Given the description of an element on the screen output the (x, y) to click on. 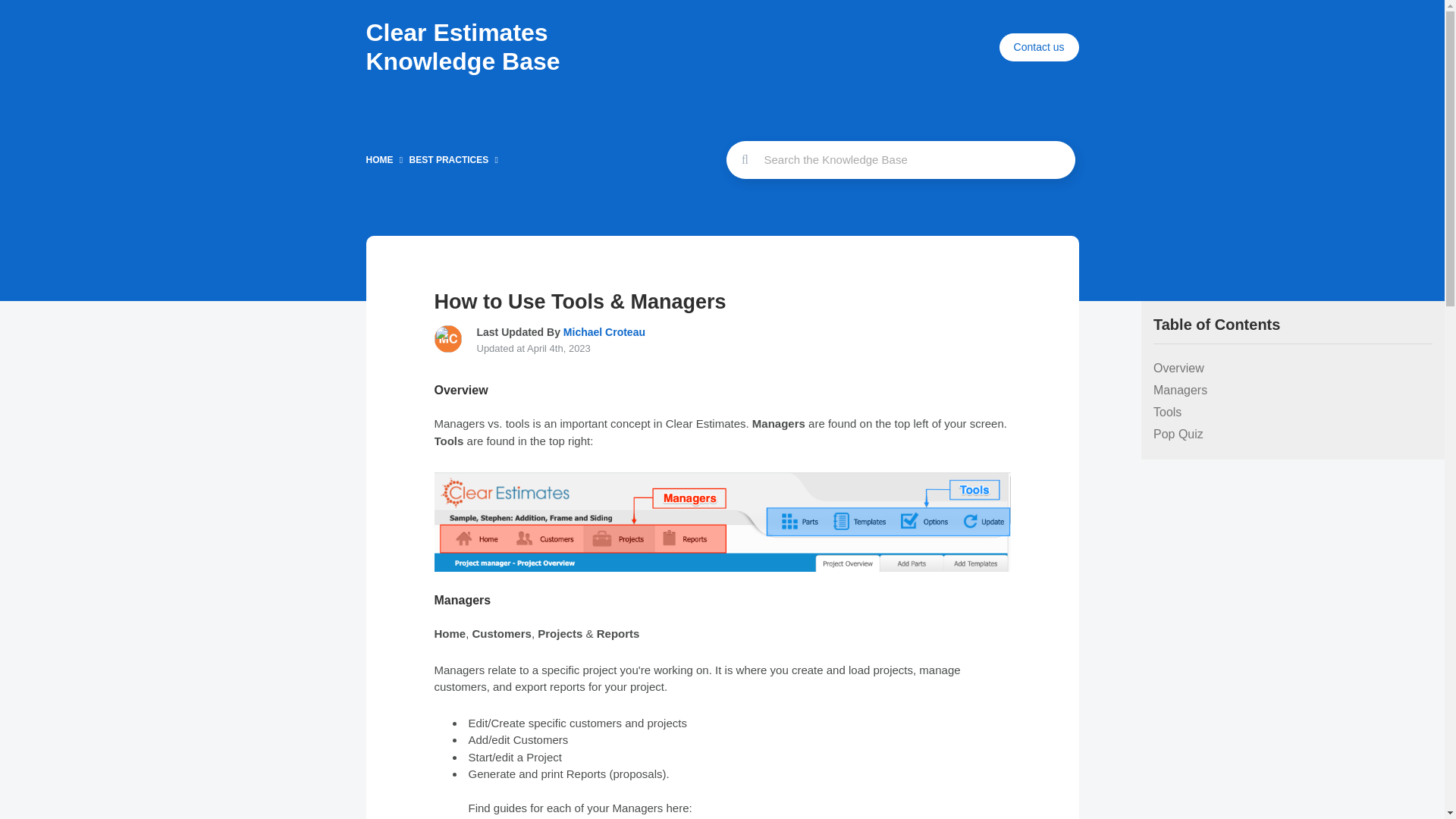
HOME (379, 159)
Clear Estimates Knowledge Base (462, 46)
Tools (1292, 412)
Managers (1292, 390)
Pop Quiz (1292, 434)
Overview (1292, 368)
Michael Croteau (602, 331)
Contact us (1038, 47)
BEST PRACTICES (449, 159)
